Given the description of an element on the screen output the (x, y) to click on. 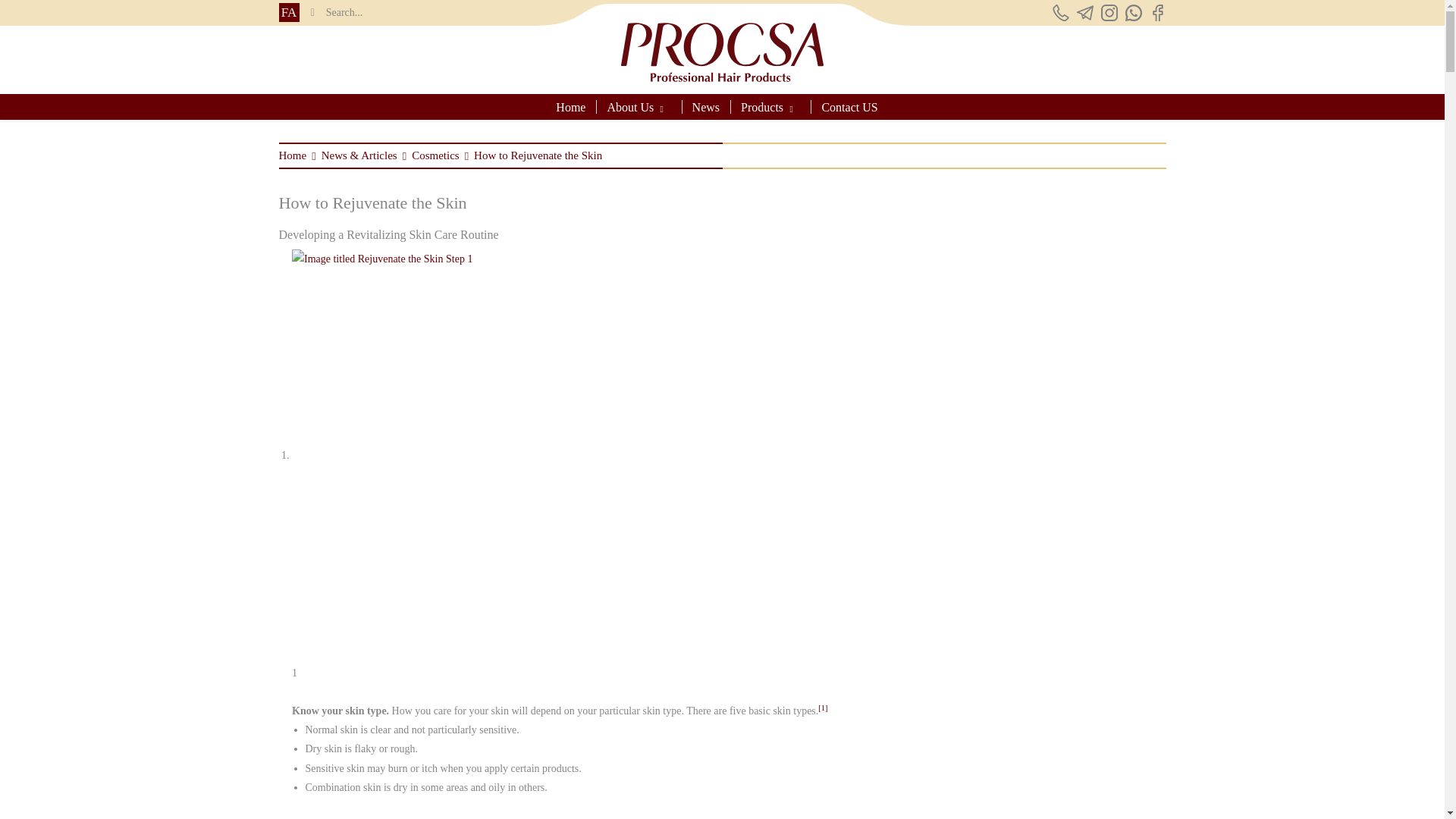
About Us (632, 106)
Home (575, 106)
Products (764, 106)
Cosmetics (436, 155)
News (705, 106)
Home (293, 155)
FA (289, 11)
Contact US (849, 106)
